Given the description of an element on the screen output the (x, y) to click on. 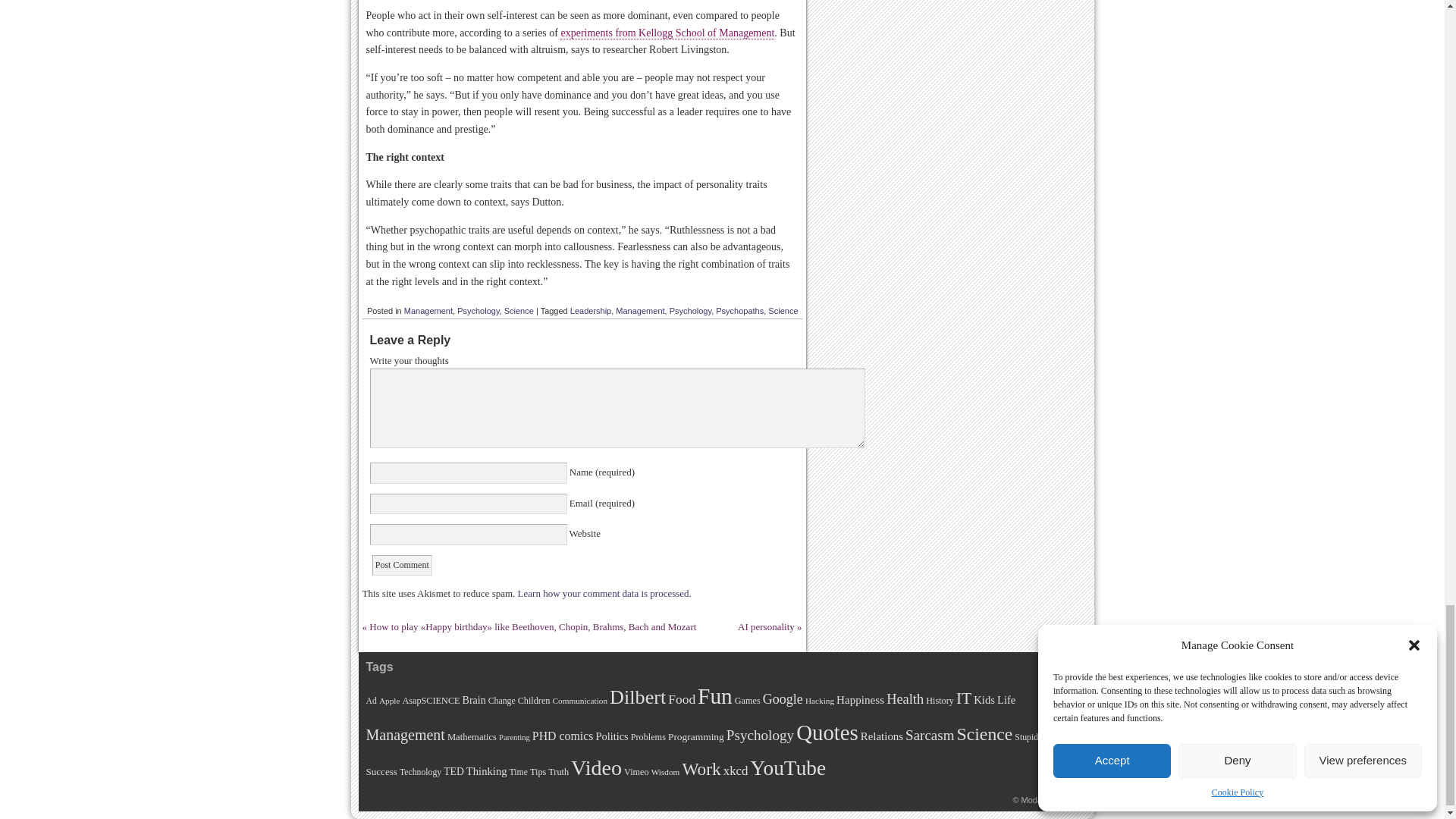
Some personal and shared stuff (1047, 799)
Post Comment (402, 565)
